Given the description of an element on the screen output the (x, y) to click on. 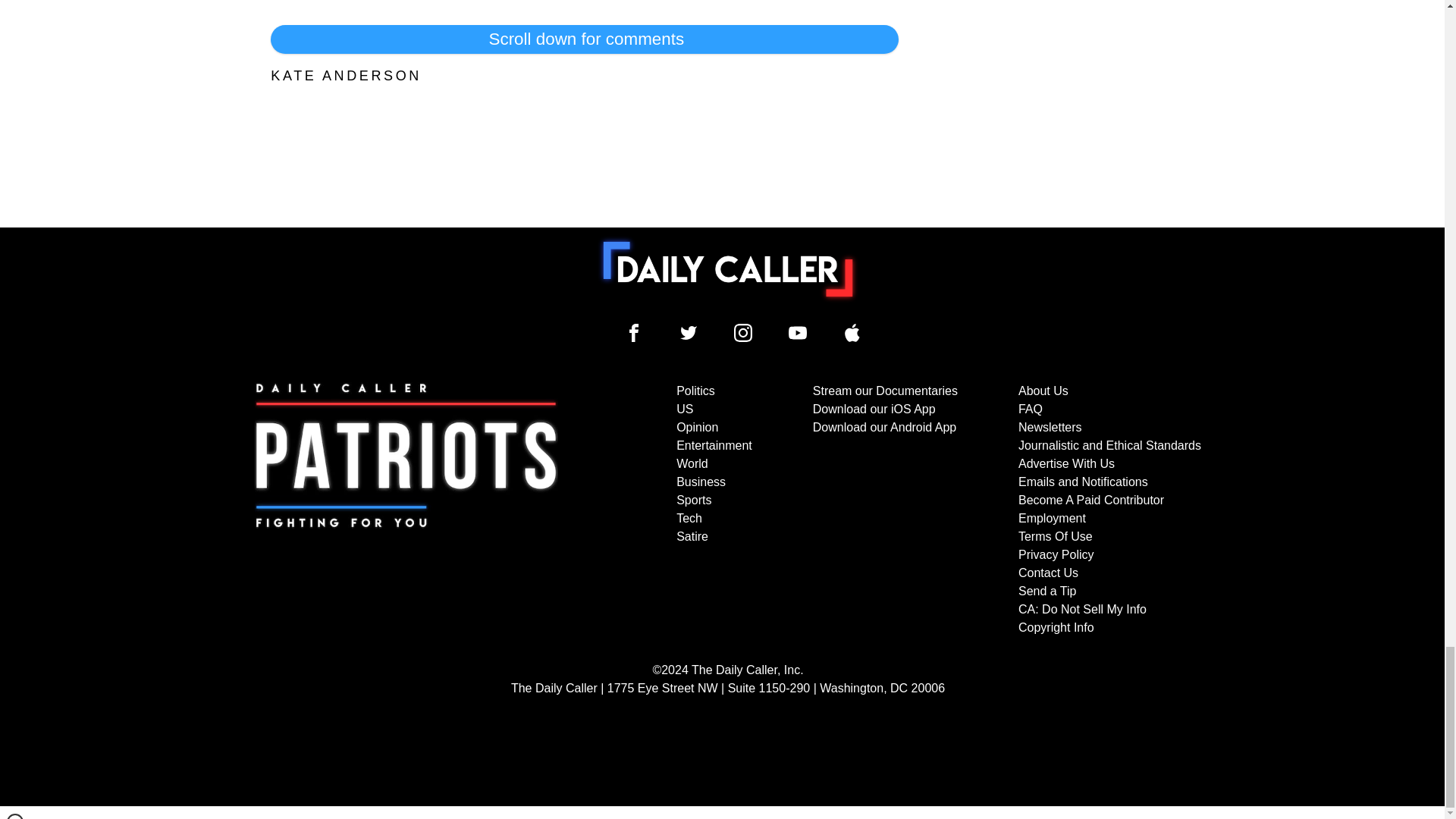
Daily Caller Instagram (742, 332)
Daily Caller Facebook (633, 332)
Daily Caller YouTube (852, 332)
To home page (727, 268)
Daily Caller YouTube (797, 332)
Daily Caller Twitter (688, 332)
Subscribe to The Daily Caller (405, 509)
Scroll down for comments (584, 39)
